Given the description of an element on the screen output the (x, y) to click on. 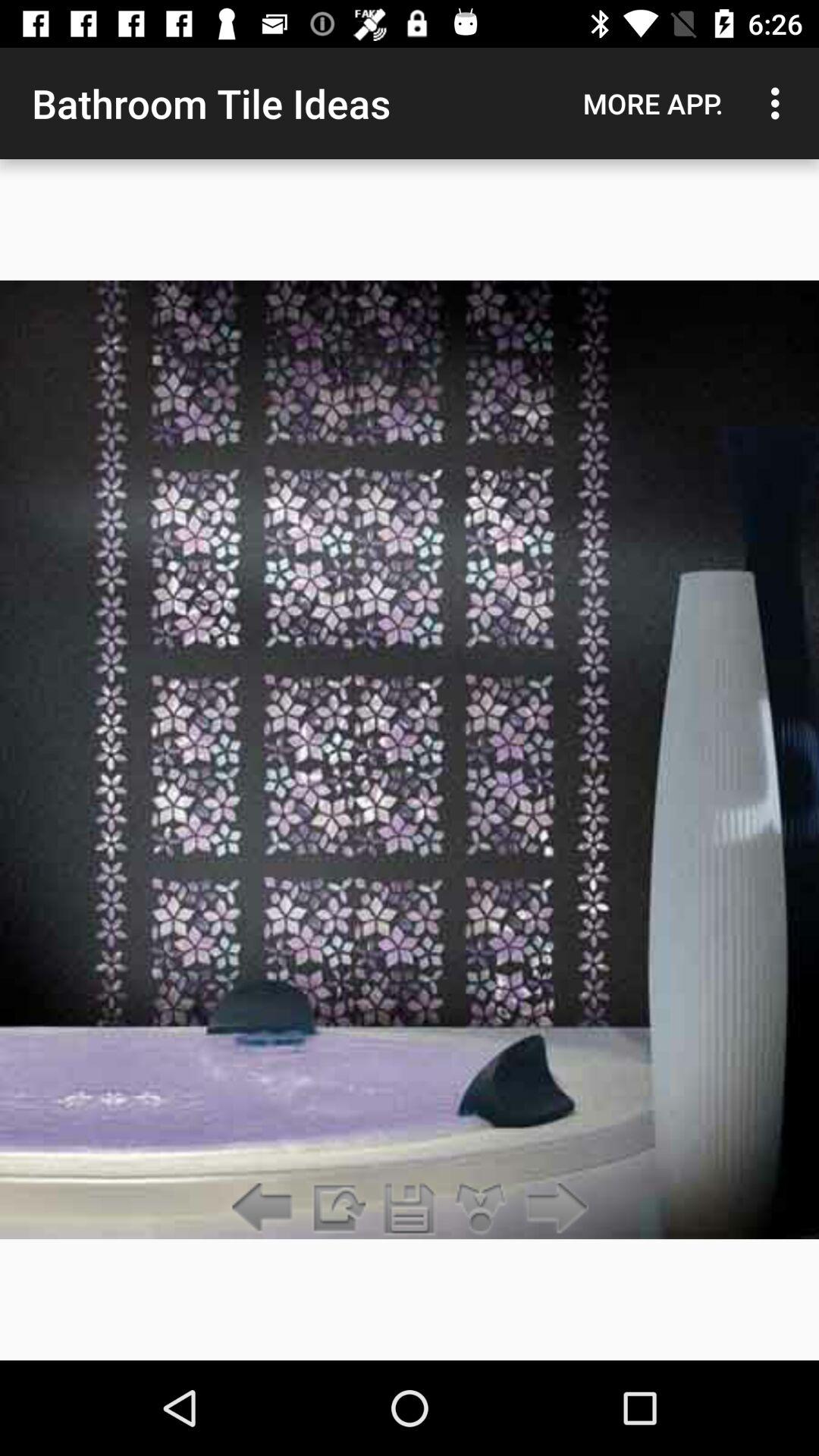
choose the icon to the right of the bathroom tile ideas (653, 103)
